Given the description of an element on the screen output the (x, y) to click on. 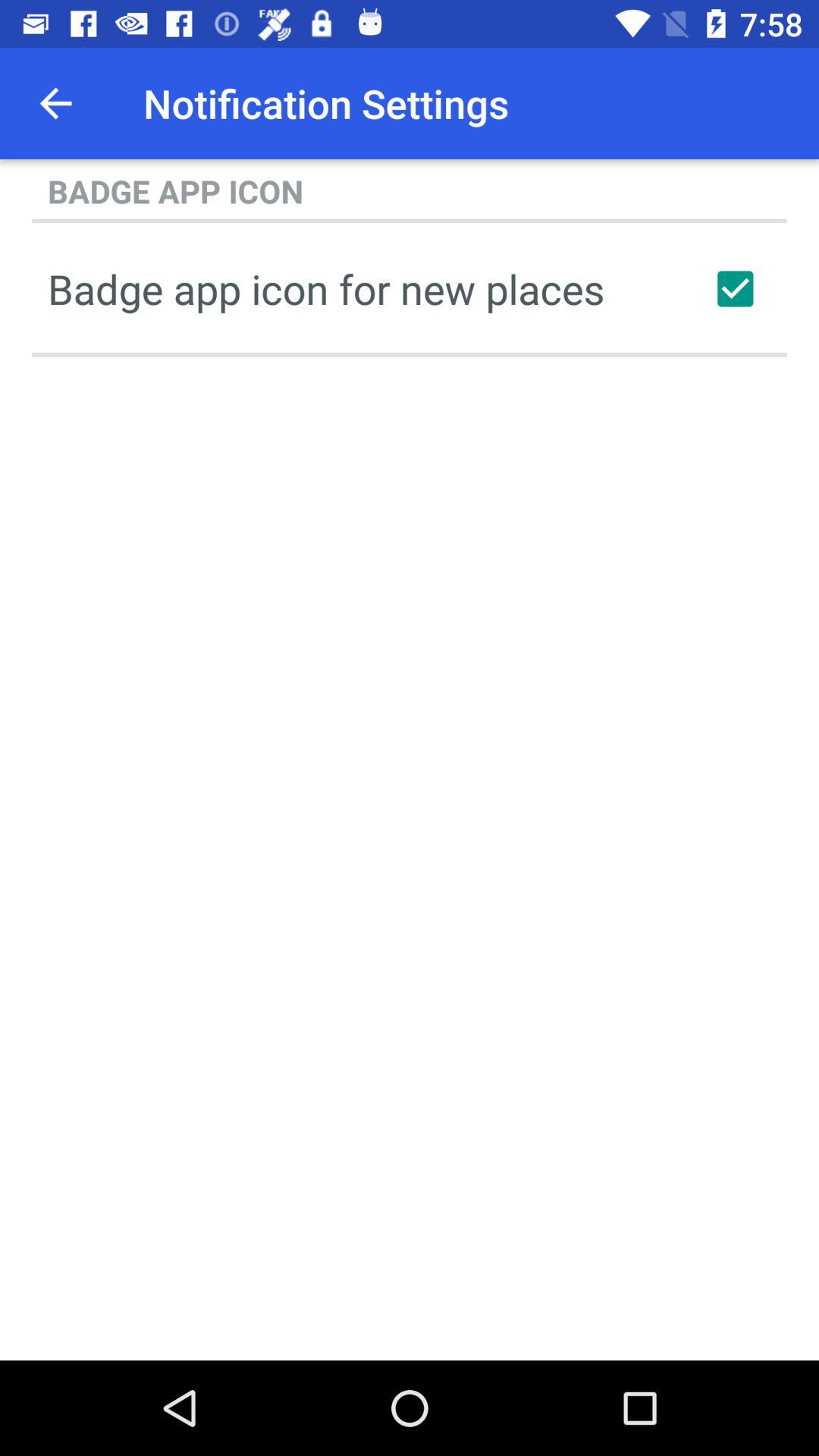
tap the icon to the right of the badge app icon item (735, 288)
